Given the description of an element on the screen output the (x, y) to click on. 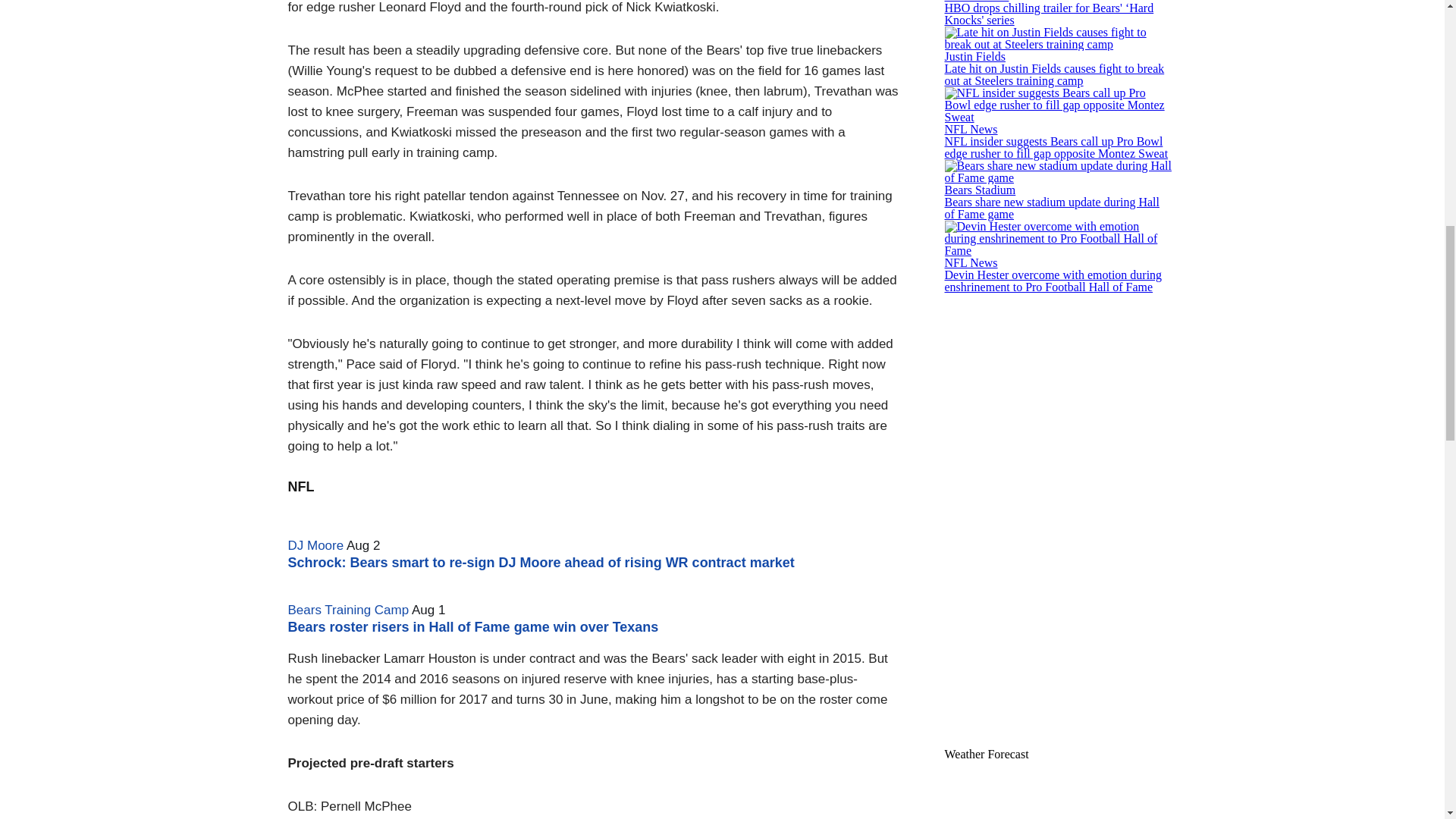
DJ Moore (315, 545)
NFL News (970, 128)
Bears roster risers in Hall of Fame game win over Texans (473, 626)
Hard Knocks (976, 1)
Bears Training Camp (348, 609)
Justin Fields (975, 56)
